Given the description of an element on the screen output the (x, y) to click on. 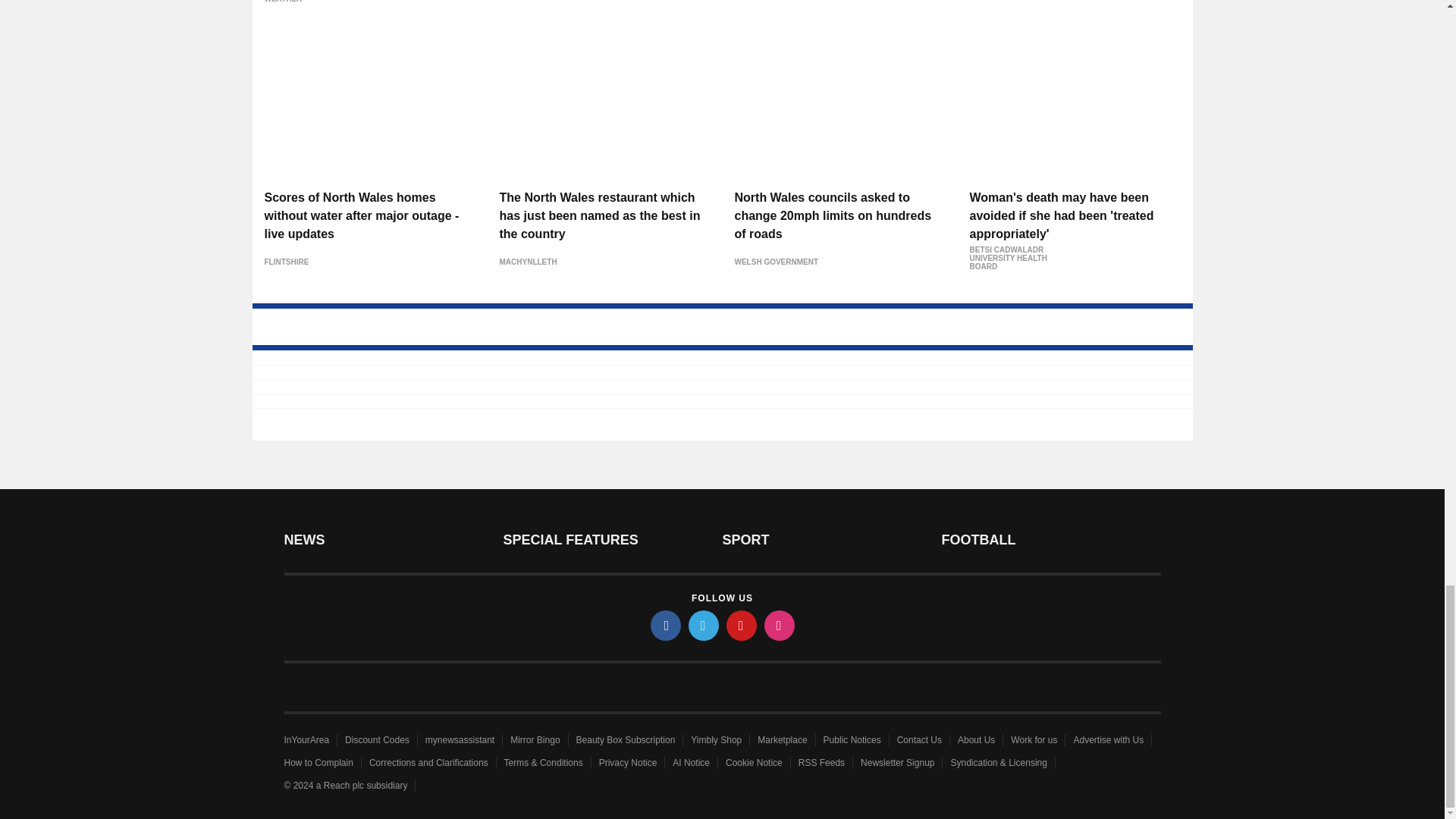
facebook (665, 625)
instagram (779, 625)
twitter (703, 625)
pinterest (741, 625)
